Given the description of an element on the screen output the (x, y) to click on. 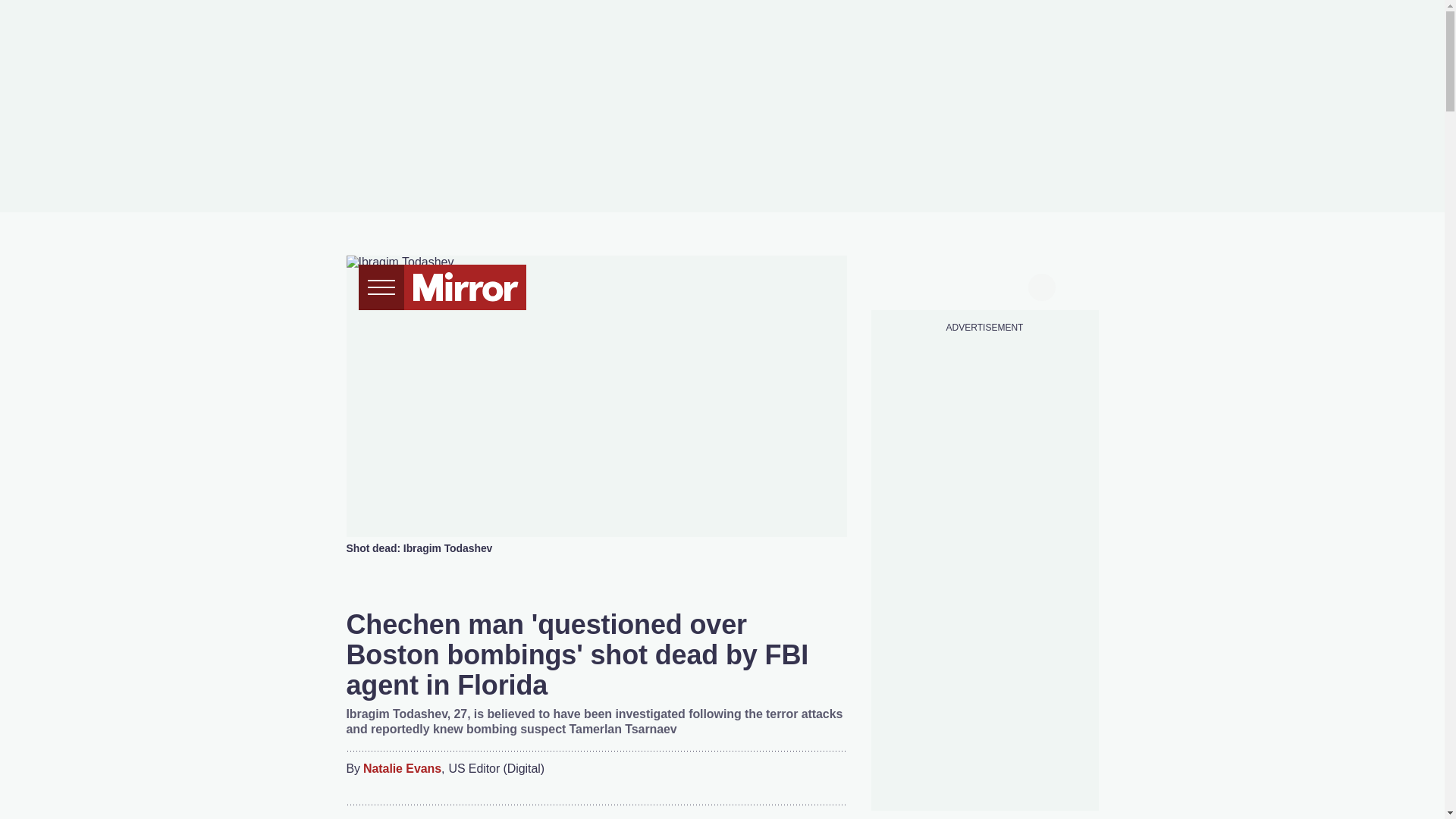
Natalie Evans (401, 769)
tiktok (955, 285)
twitter (926, 285)
Whatsapp (797, 778)
Twitter (766, 778)
facebook (897, 285)
snapchat (1012, 285)
instagram (984, 285)
Facebook (736, 778)
